Given the description of an element on the screen output the (x, y) to click on. 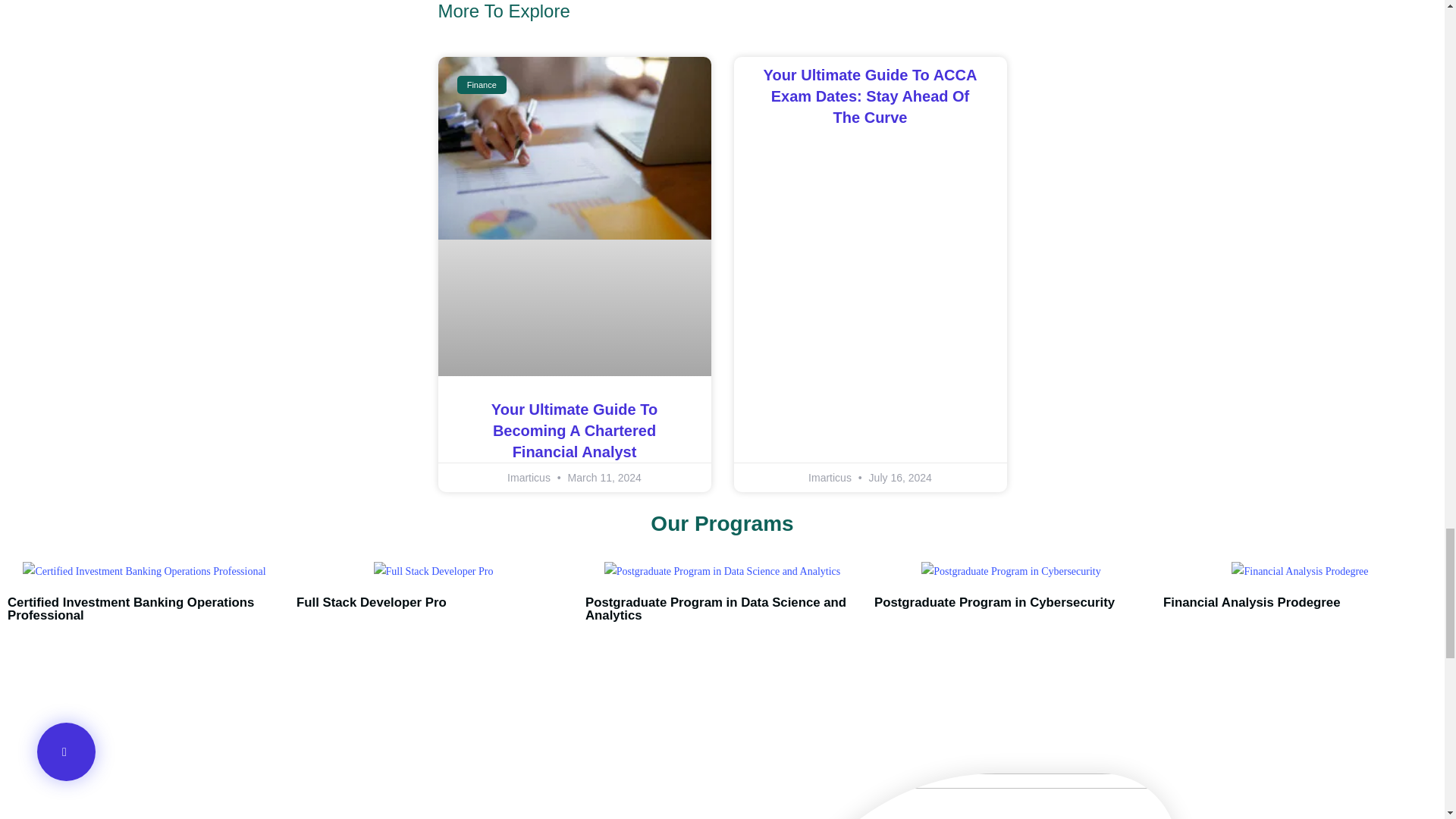
Postgraduate Program in Cybersecurity (995, 602)
Certified Investment Banking Operations Professional (130, 608)
Financial Analysis Prodegree (1251, 602)
Full Stack Developer Pro (371, 602)
Postgraduate Program in Data Science and Analytics (715, 608)
